Given the description of an element on the screen output the (x, y) to click on. 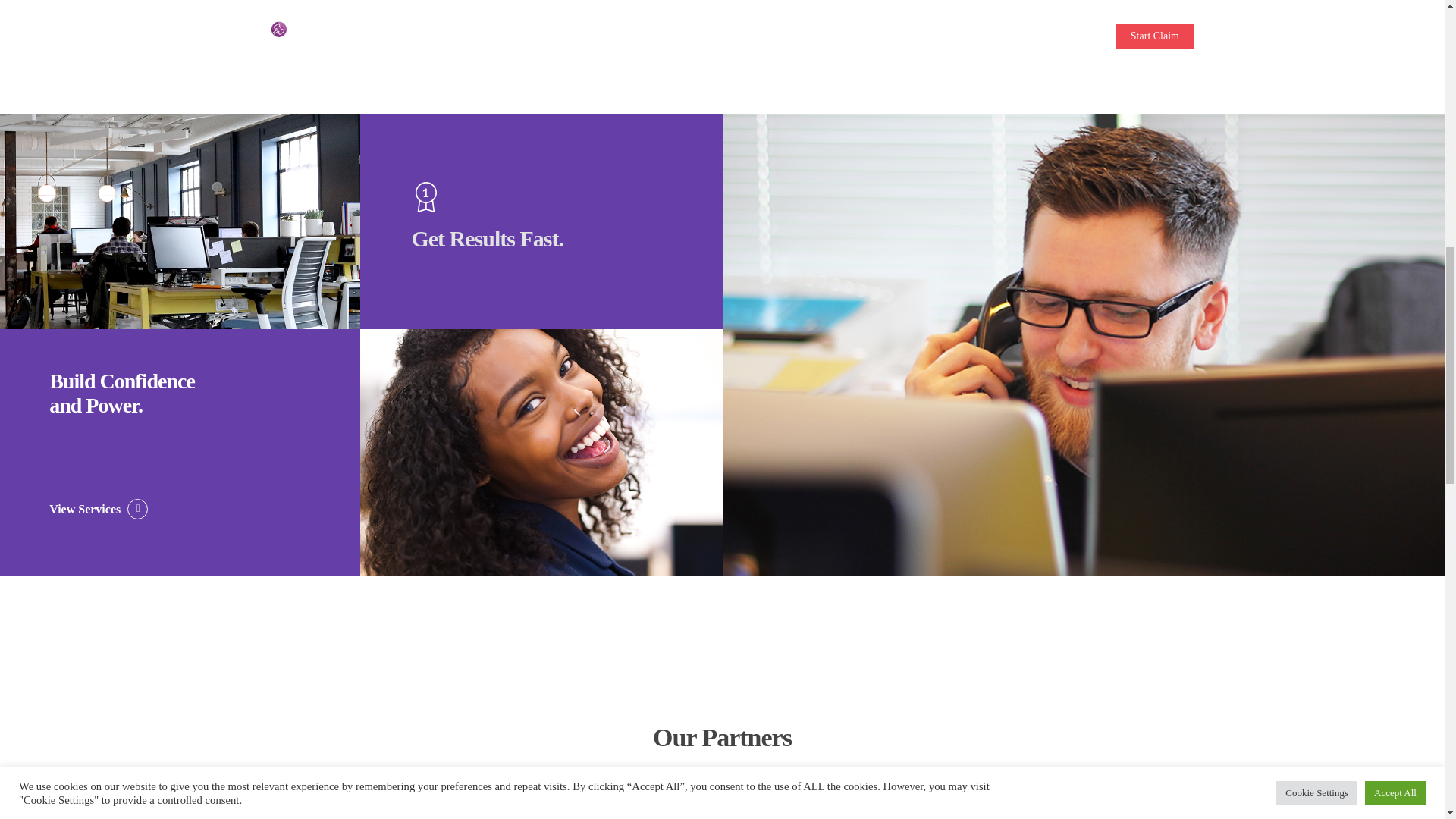
View Services (98, 509)
